Given the description of an element on the screen output the (x, y) to click on. 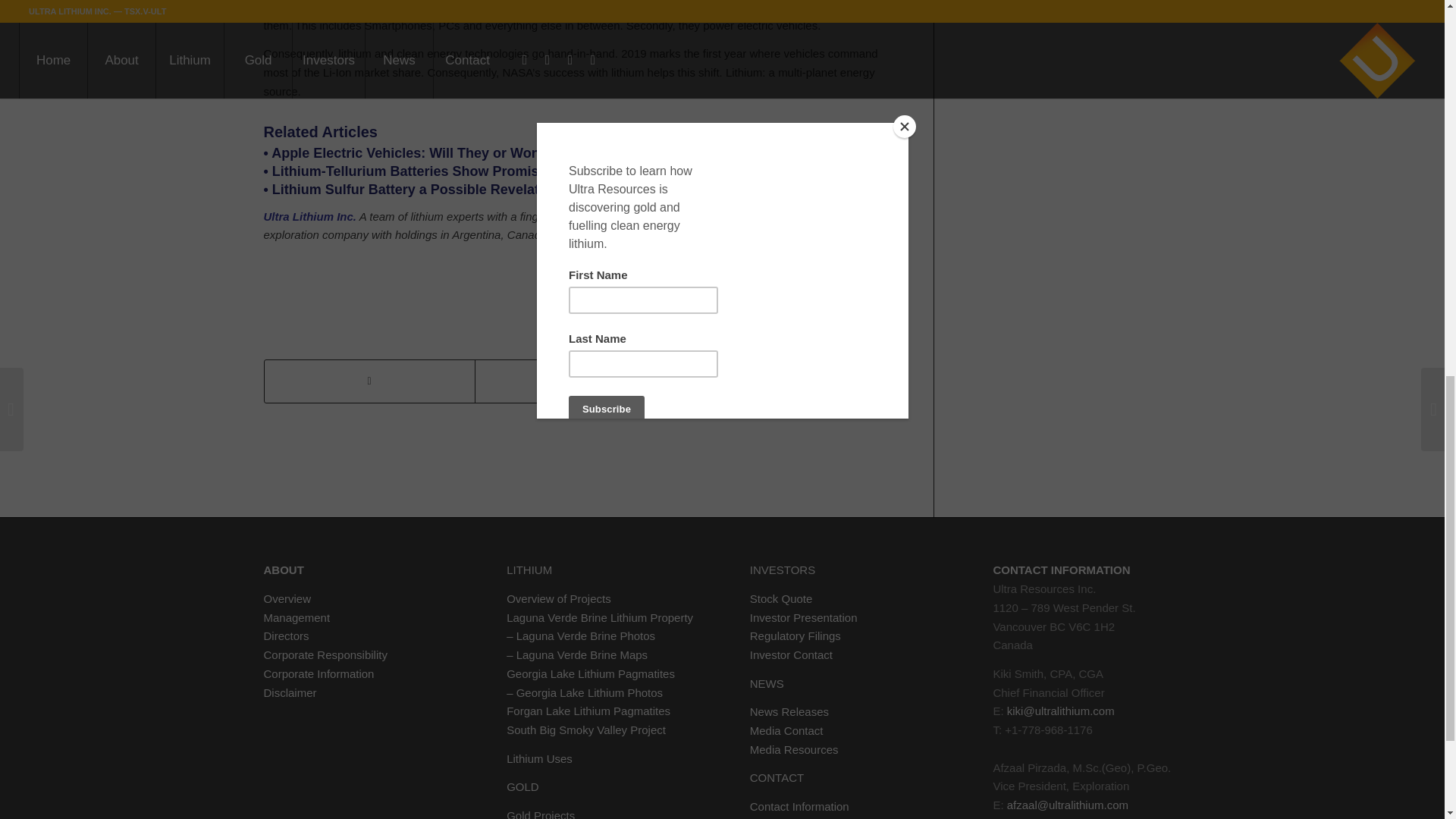
Platooning Electric and Automated Cars (427, 152)
General Motors Goes Electric (405, 171)
Global Lithium Market for Batteries to Double (411, 189)
